Given the description of an element on the screen output the (x, y) to click on. 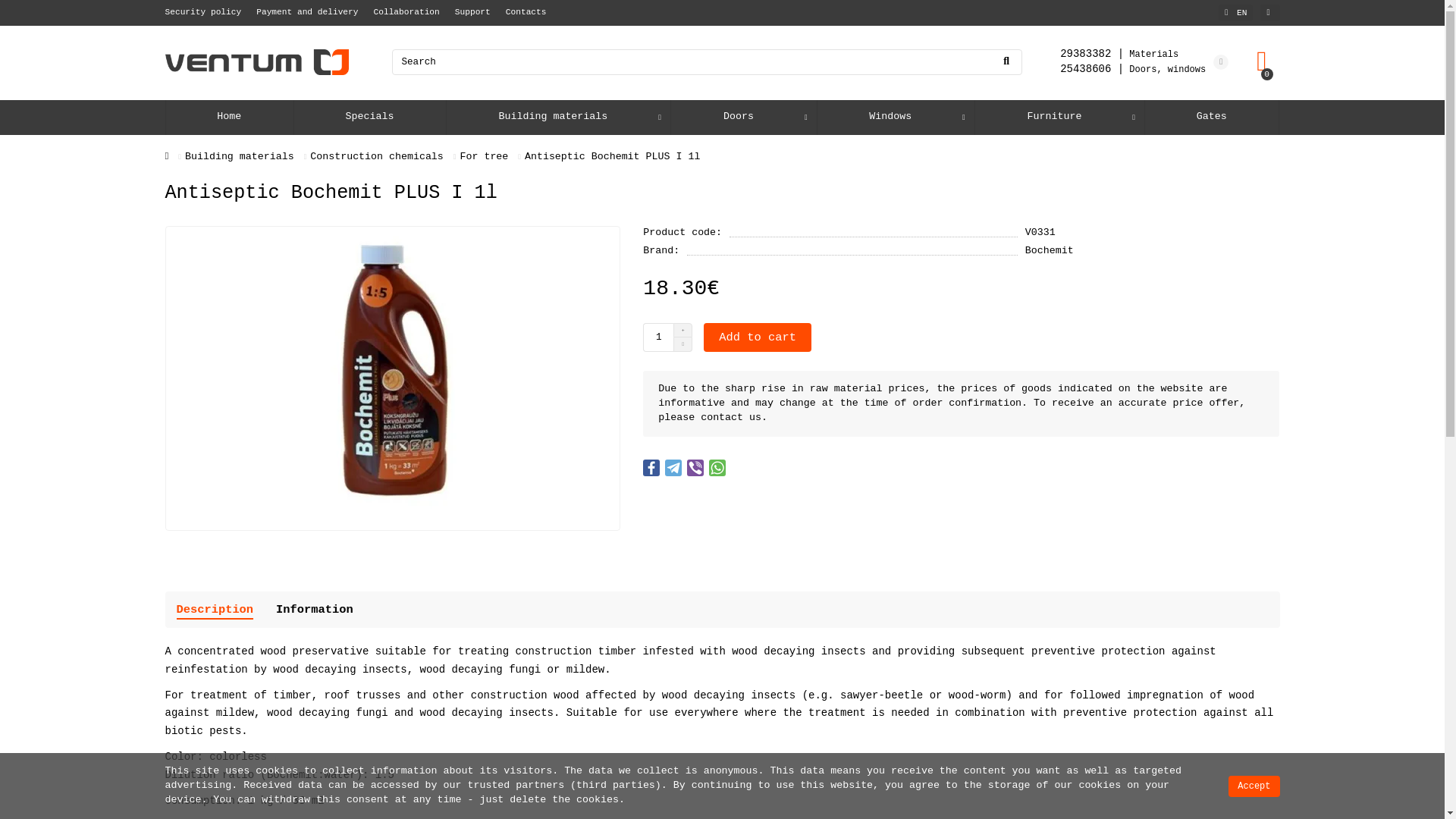
Payment and delivery (307, 11)
Security policy (203, 11)
Specials (369, 117)
Security policy (203, 11)
VENTUM.LV (257, 62)
Materials (1118, 53)
Antiseptic Bochemit PLUS I 1l (392, 377)
Contacts (526, 11)
Collaboration (405, 11)
EN (1235, 12)
Building materials (553, 117)
1 (657, 337)
Support (472, 11)
Contacts (526, 11)
Doors, windows (1132, 69)
